Given the description of an element on the screen output the (x, y) to click on. 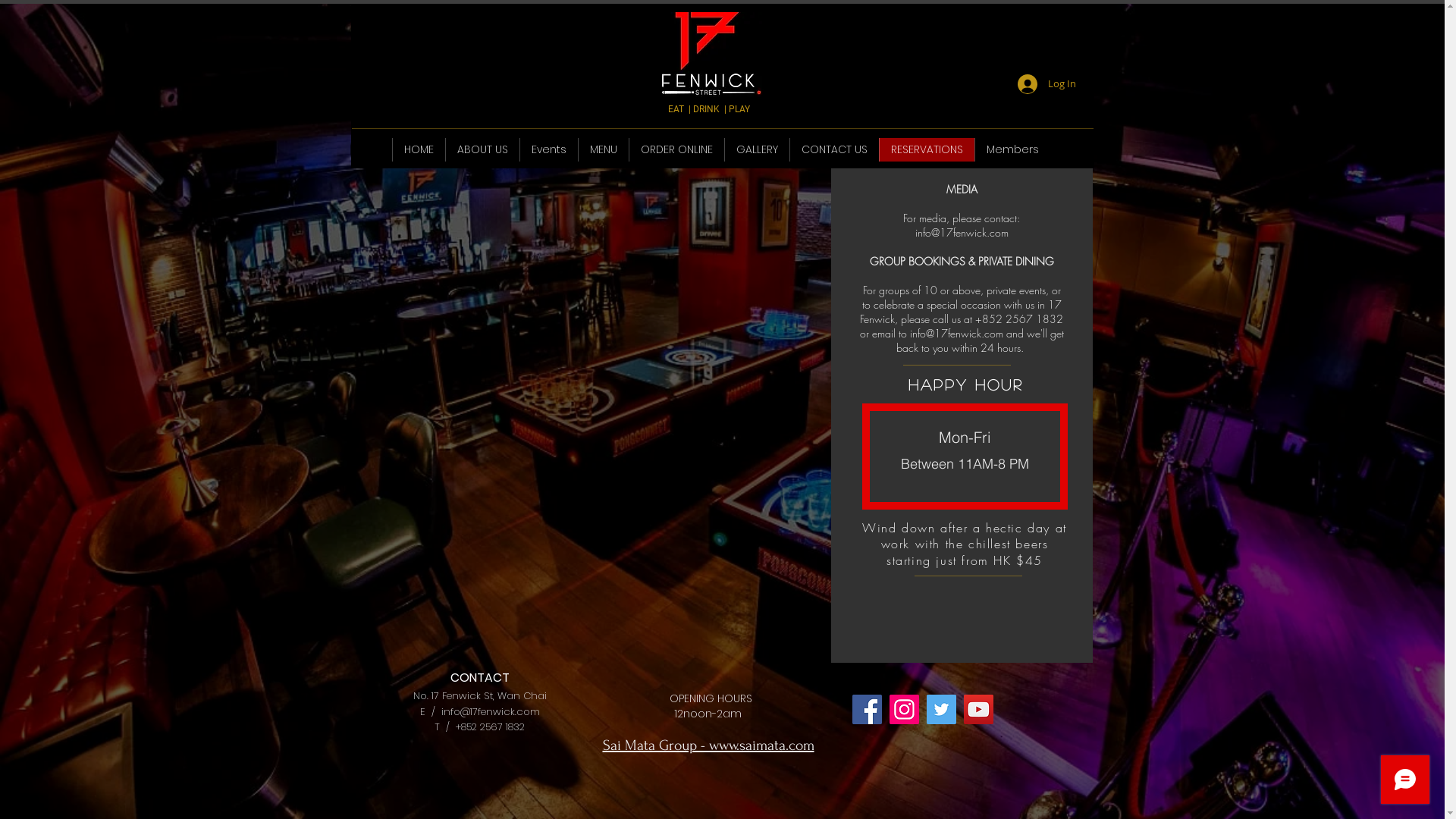
GALLERY Element type: text (756, 149)
ABOUT US Element type: text (482, 149)
info@17fenwick.com Element type: text (490, 711)
Sai Mata Group - www.saimata.com Element type: text (707, 745)
ORDER ONLINE Element type: text (676, 149)
Events Element type: text (548, 149)
info@17fenwick.com Element type: text (960, 232)
HOME Element type: text (418, 149)
CONTACT US Element type: text (833, 149)
info@17fenwick.com Element type: text (956, 333)
Log In Element type: text (1046, 83)
Members Element type: text (1012, 149)
MENU Element type: text (602, 149)
RESERVATIONS Element type: text (926, 149)
